Given the description of an element on the screen output the (x, y) to click on. 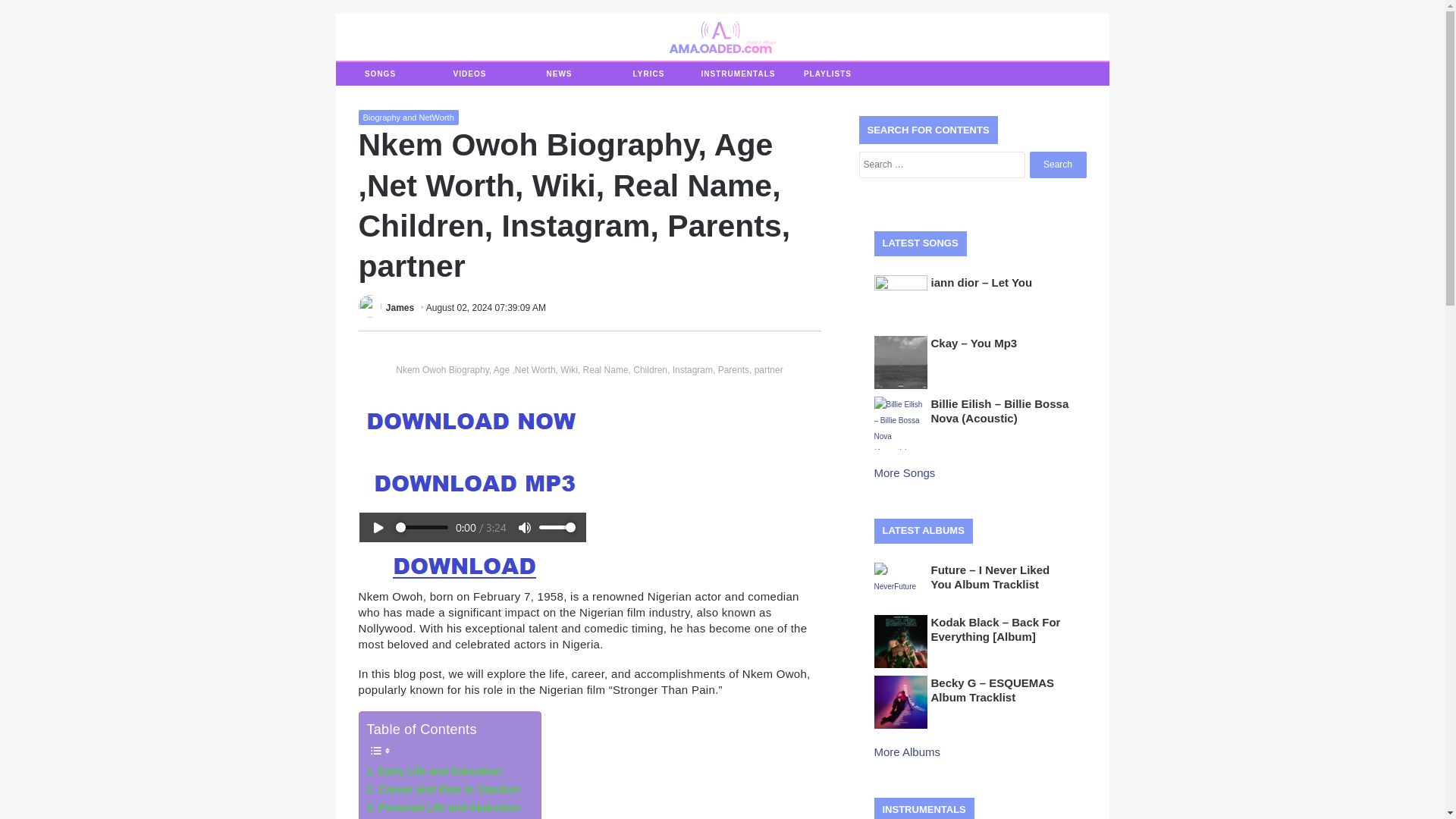
NEWS (558, 73)
Career and Rise to Stardom (442, 789)
Search (1057, 164)
Personal Life and Abduction (442, 807)
SONGS (379, 73)
Net Worth and Achievements (445, 817)
Early Life and Education (434, 771)
VIDEOS (469, 73)
PLAYLISTS (827, 73)
Biography and NetWorth (408, 117)
Search (1057, 164)
Career and Rise to Stardom (442, 789)
More Songs (905, 472)
James (399, 307)
Net Worth and Achievements (445, 817)
